Given the description of an element on the screen output the (x, y) to click on. 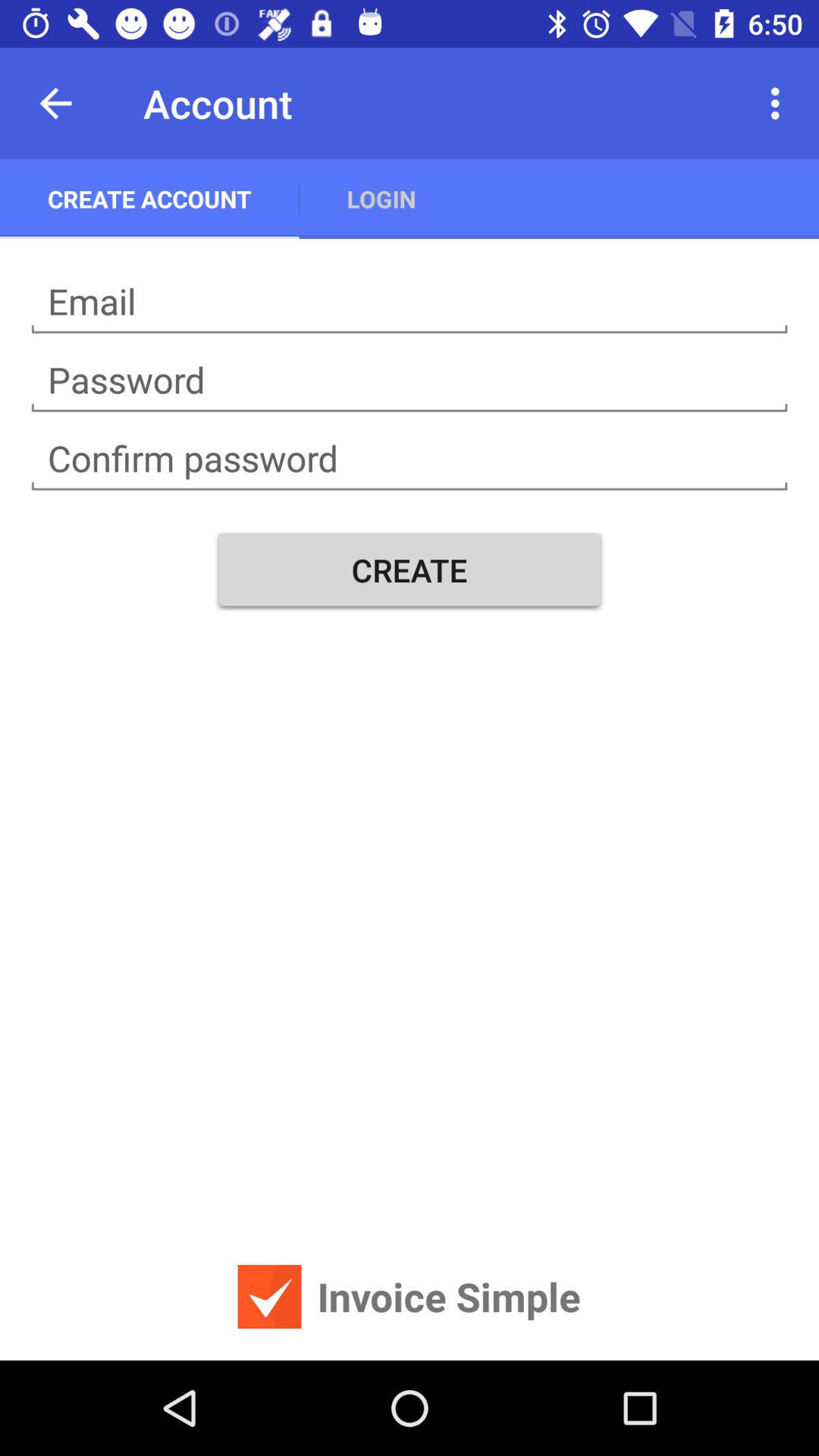
creat password (409, 380)
